Given the description of an element on the screen output the (x, y) to click on. 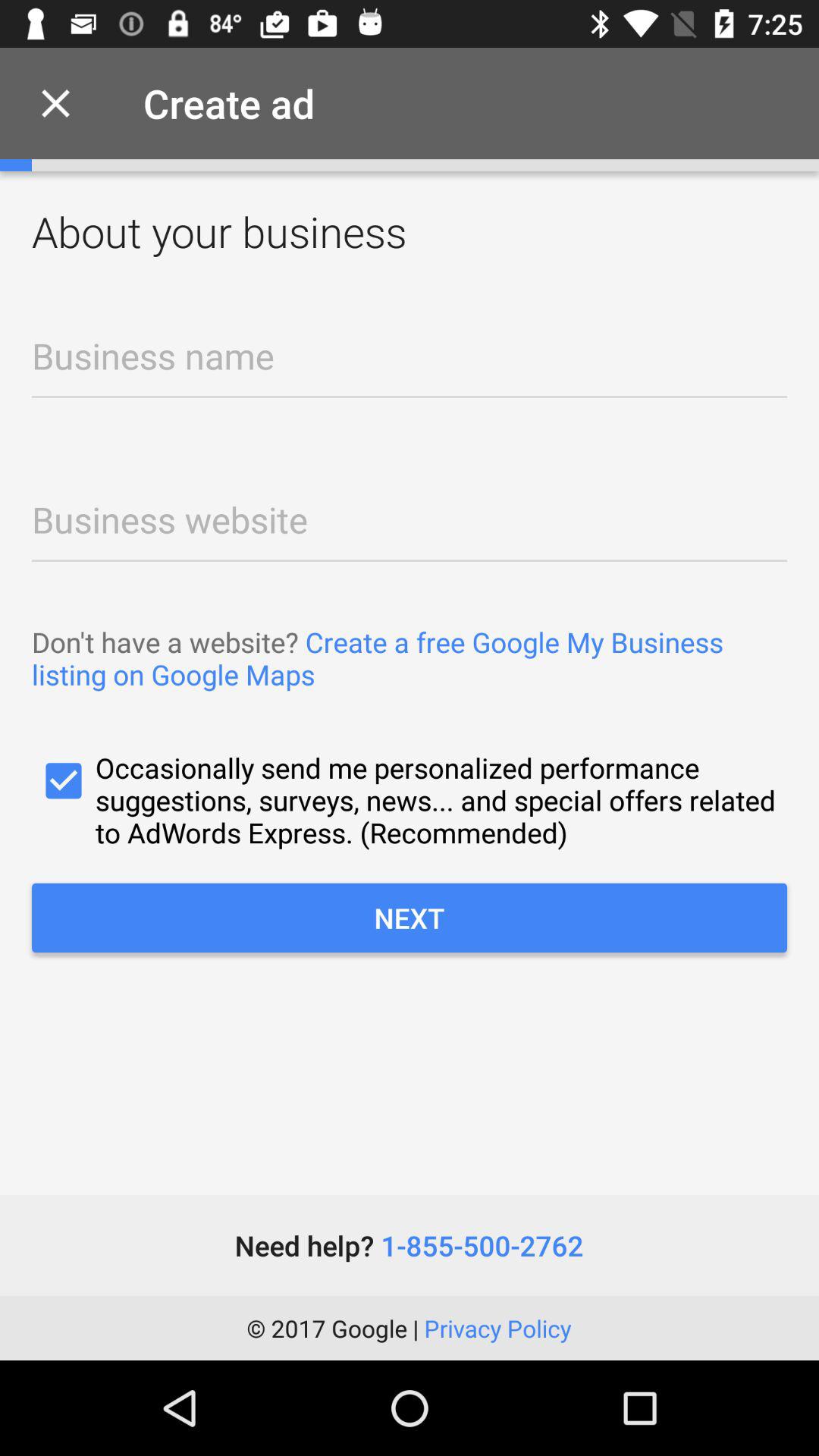
flip until 2017 google privacy icon (408, 1328)
